Given the description of an element on the screen output the (x, y) to click on. 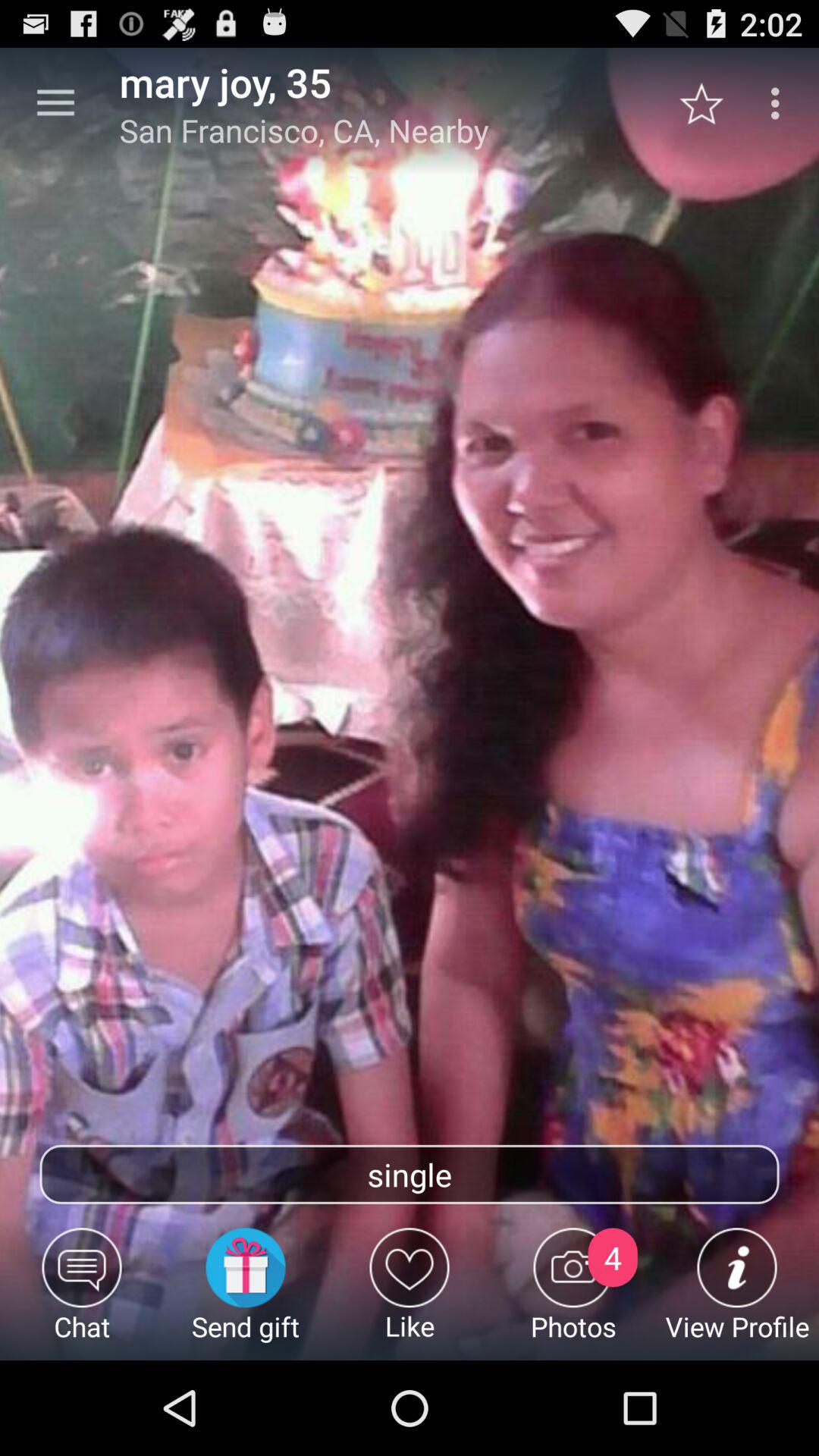
launch icon to the right of photos item (737, 1293)
